Given the description of an element on the screen output the (x, y) to click on. 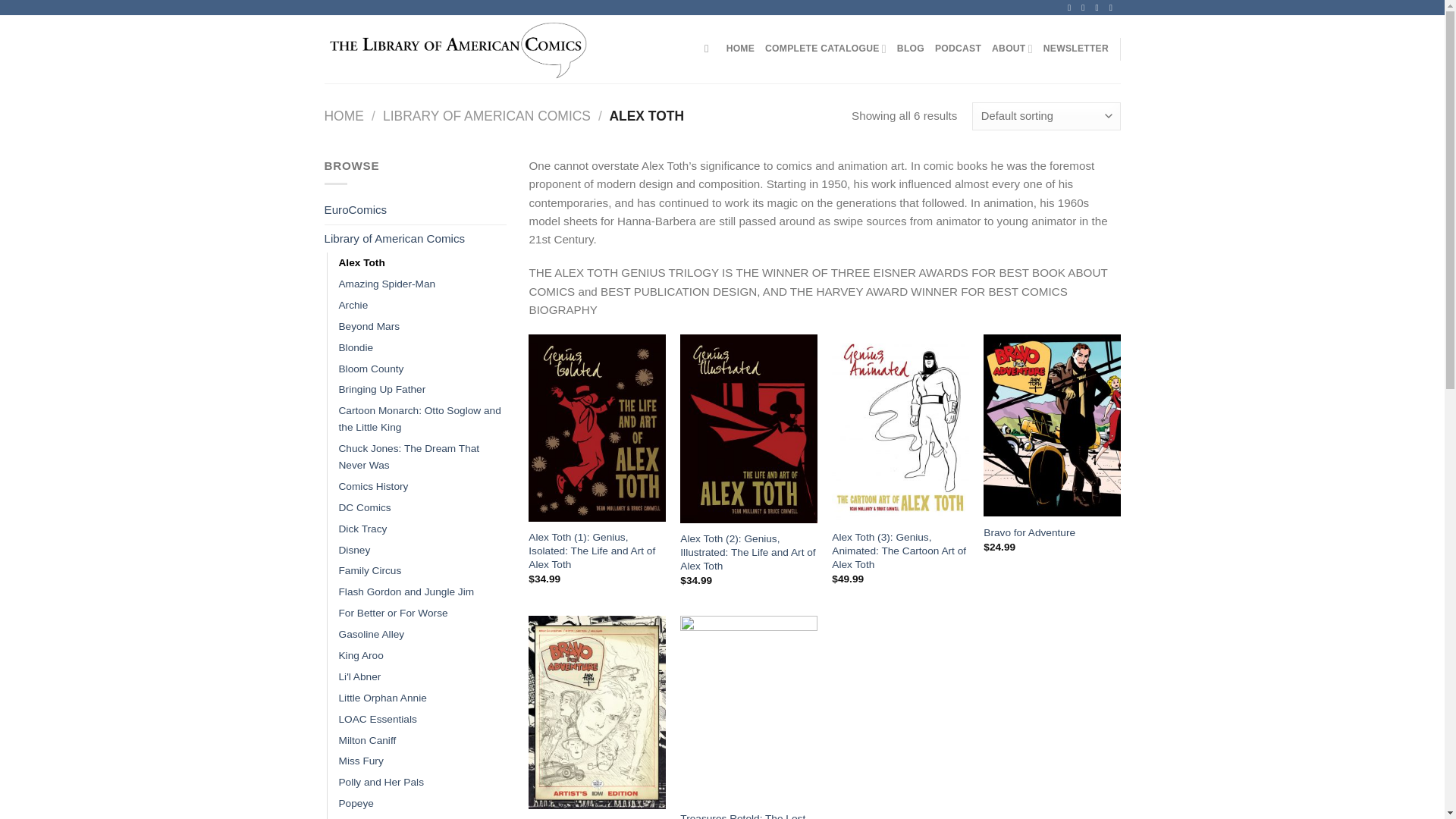
Library of American Comics (415, 238)
Follow on Instagram (1085, 7)
COMPLETE CATALOGUE (825, 48)
Archie (352, 305)
ABOUT (1011, 48)
PODCAST (957, 48)
BLOG (910, 48)
Amazing Spider-Man (386, 283)
HOME (344, 115)
Follow on Facebook (1071, 7)
Follow on Twitter (1098, 7)
Alex Toth (360, 262)
LIBRARY OF AMERICAN COMICS (486, 115)
